Given the description of an element on the screen output the (x, y) to click on. 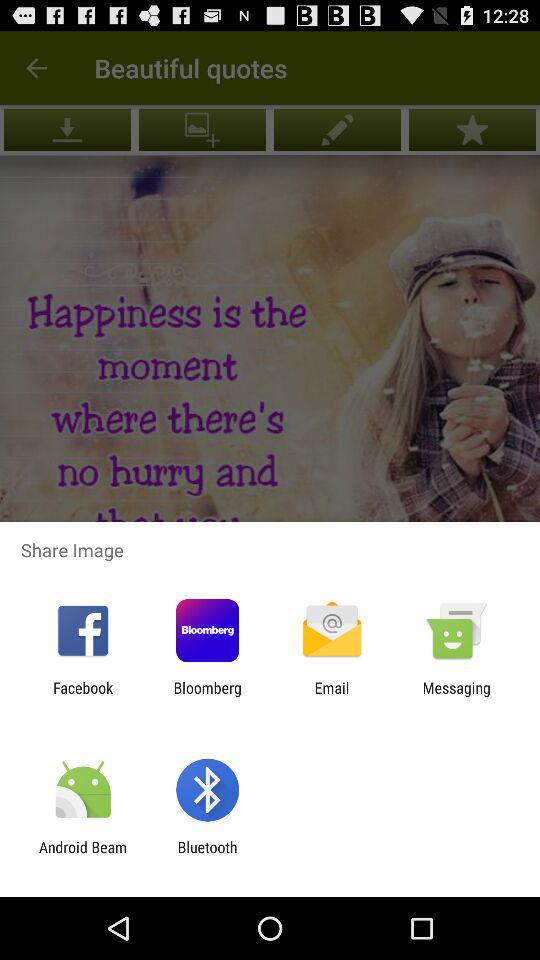
select icon next to email item (456, 696)
